Given the description of an element on the screen output the (x, y) to click on. 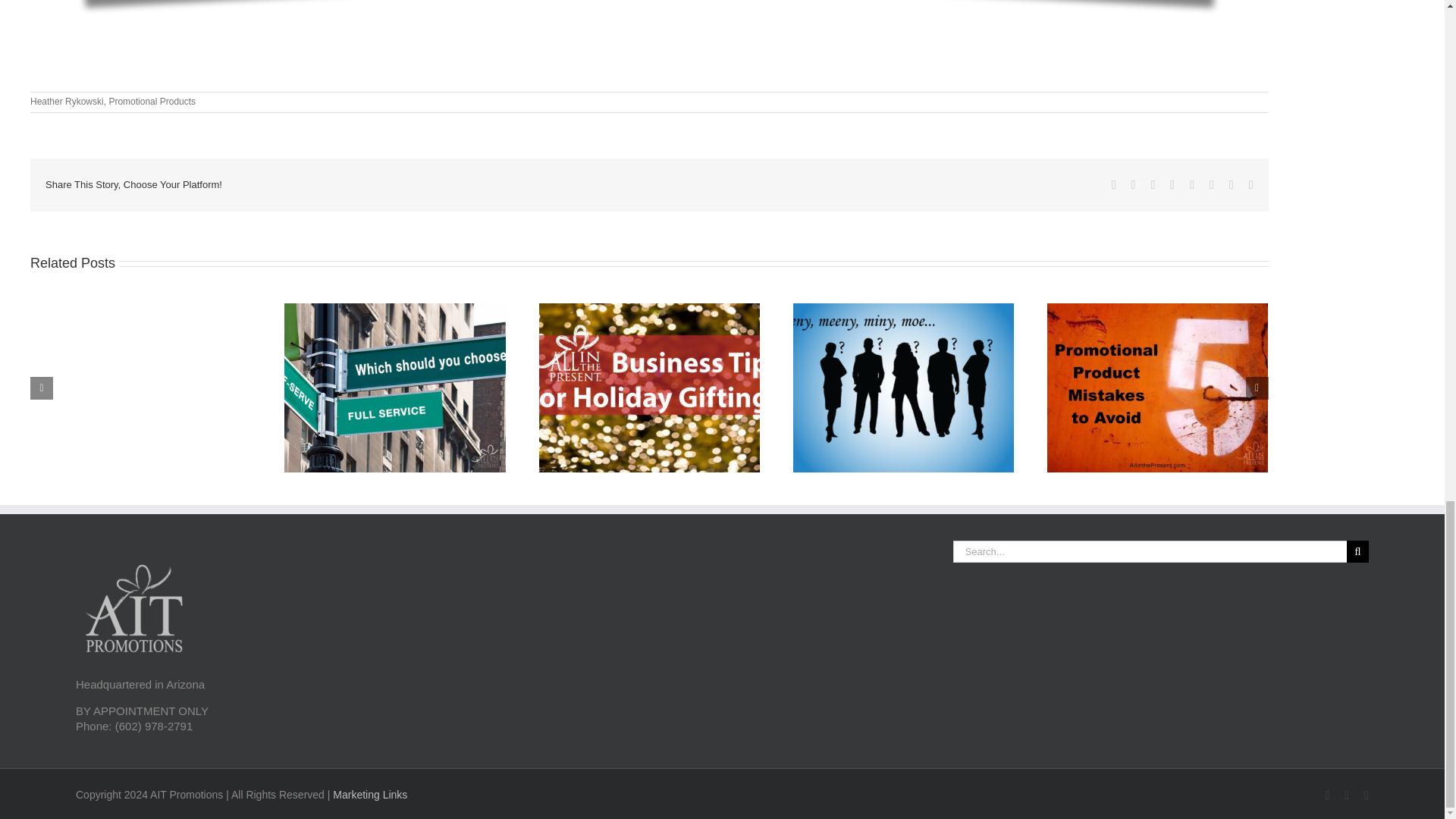
Heather Rykowski (66, 101)
Promotional Products (151, 101)
YouTube video player 1 (648, 54)
